Given the description of an element on the screen output the (x, y) to click on. 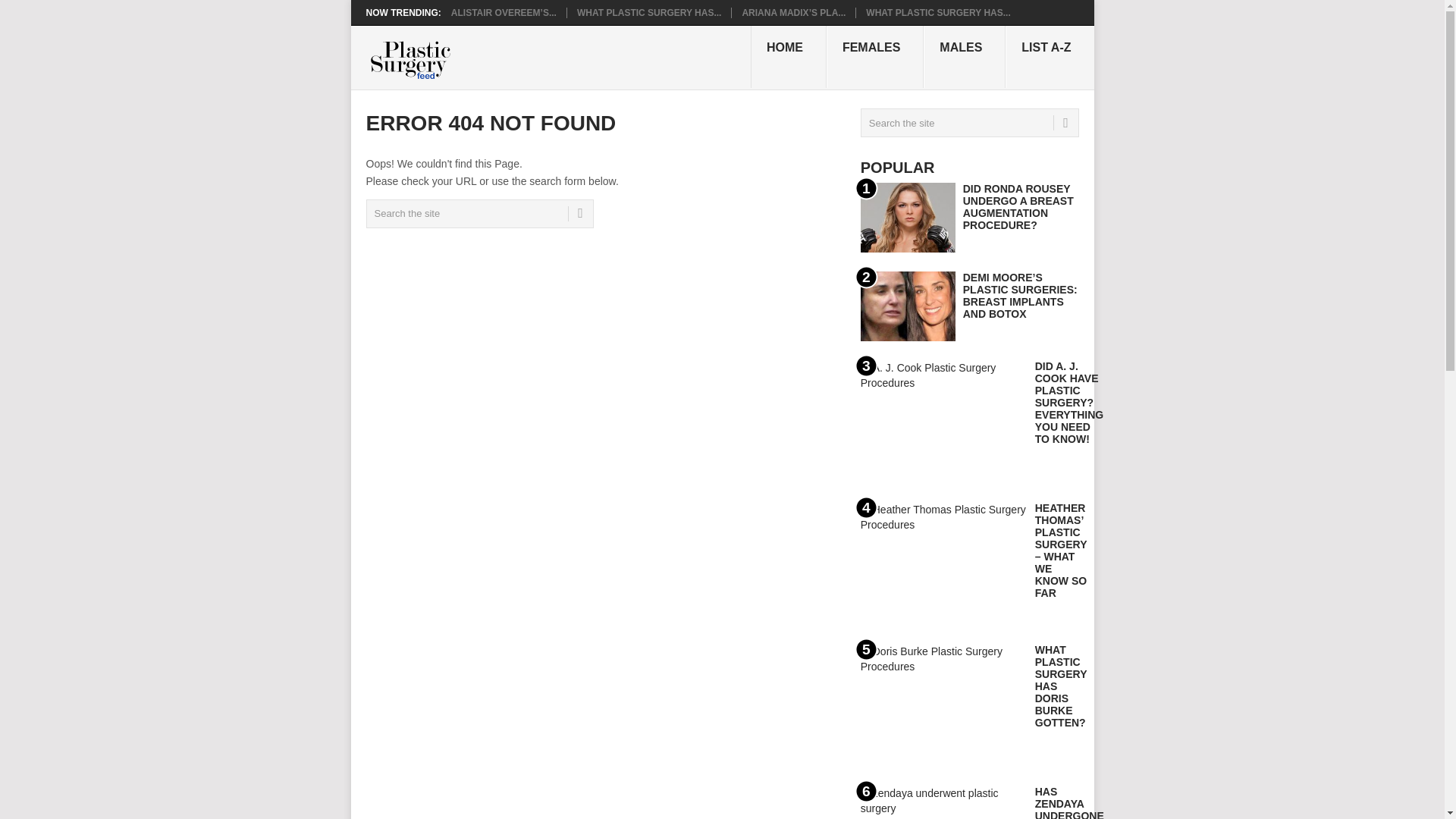
FEMALES (875, 56)
3 (943, 421)
2 (907, 306)
Search the site (478, 213)
1 (907, 217)
LIST A-Z (1049, 56)
HAS ZENDAYA UNDERGONE PLASTIC SURGERY? (1069, 802)
5 (943, 704)
MALES (964, 56)
DID RONDA ROUSEY UNDERGO A BREAST AUGMENTATION PROCEDURE? (1018, 206)
